Given the description of an element on the screen output the (x, y) to click on. 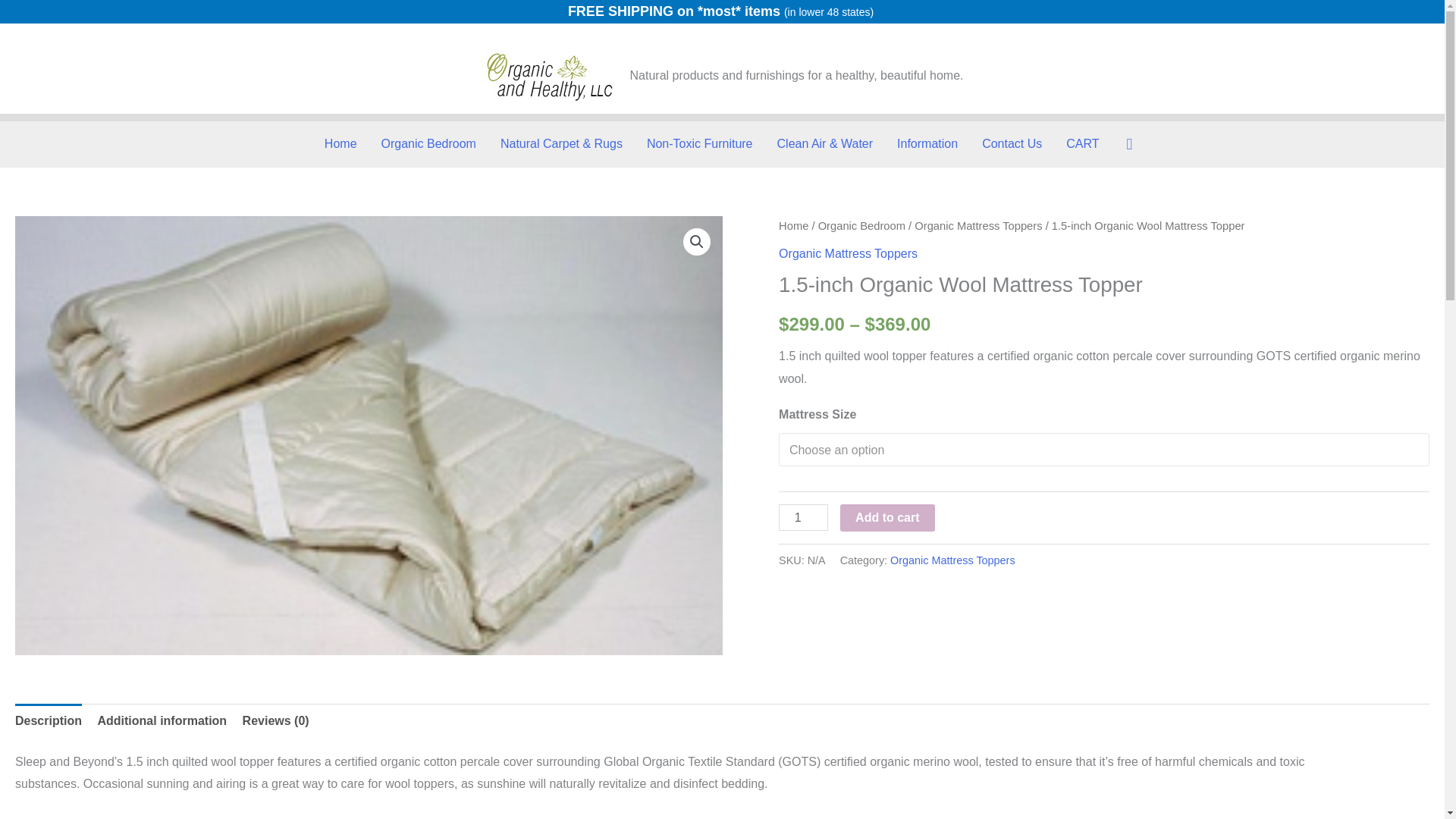
Non-Toxic Furniture (699, 144)
Home (341, 144)
1 (803, 517)
Information (927, 144)
Organic Bedroom (428, 144)
